Given the description of an element on the screen output the (x, y) to click on. 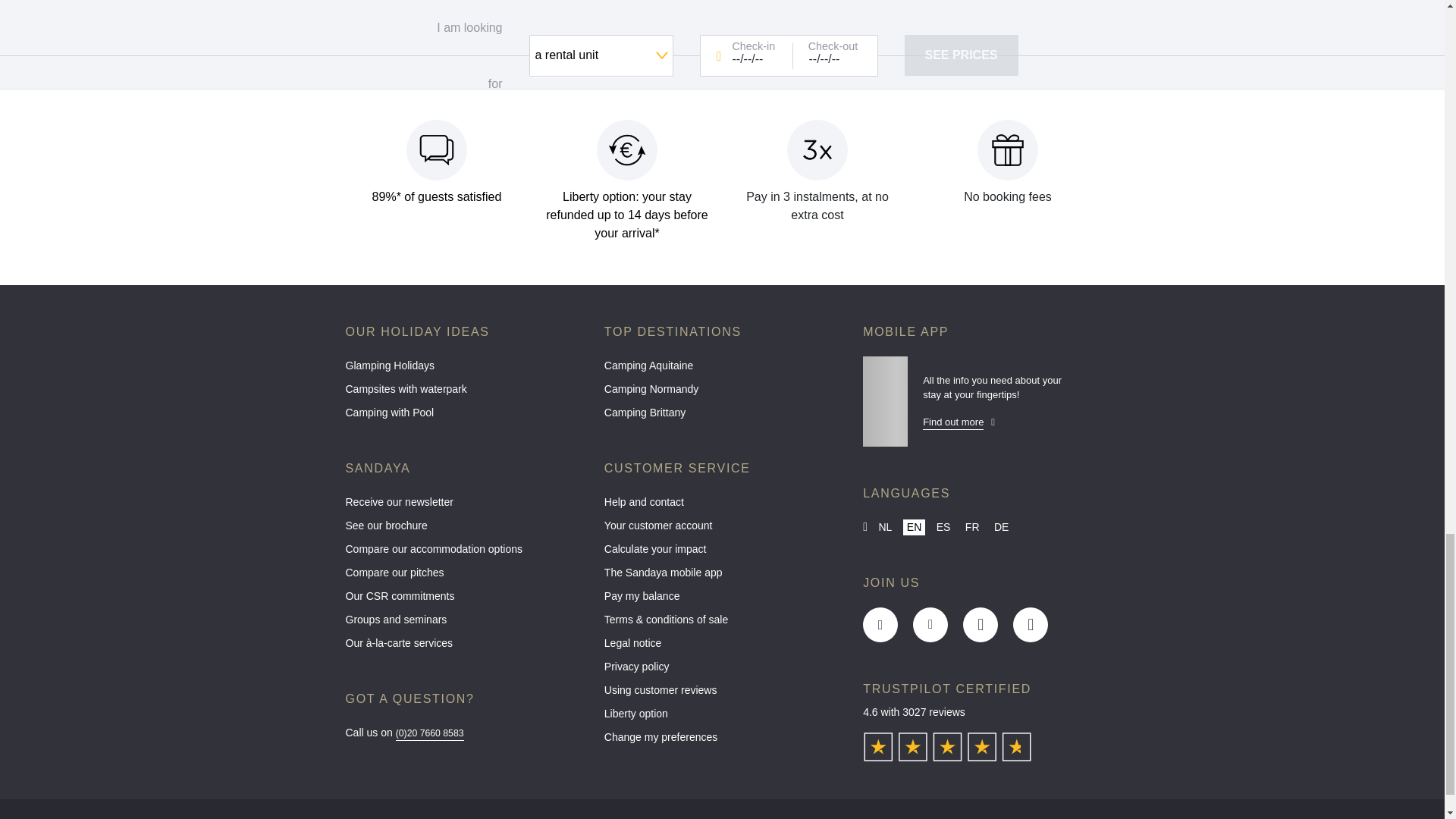
Using customer reviews (722, 693)
Calculate your impact (722, 553)
Groups and seminars (463, 623)
See our brochure (463, 529)
Compare our accommodation options (463, 553)
Pay my balance (722, 599)
Help and contact (722, 505)
Privacy policy (722, 670)
Legal notice (722, 647)
Your customer account (722, 529)
